Given the description of an element on the screen output the (x, y) to click on. 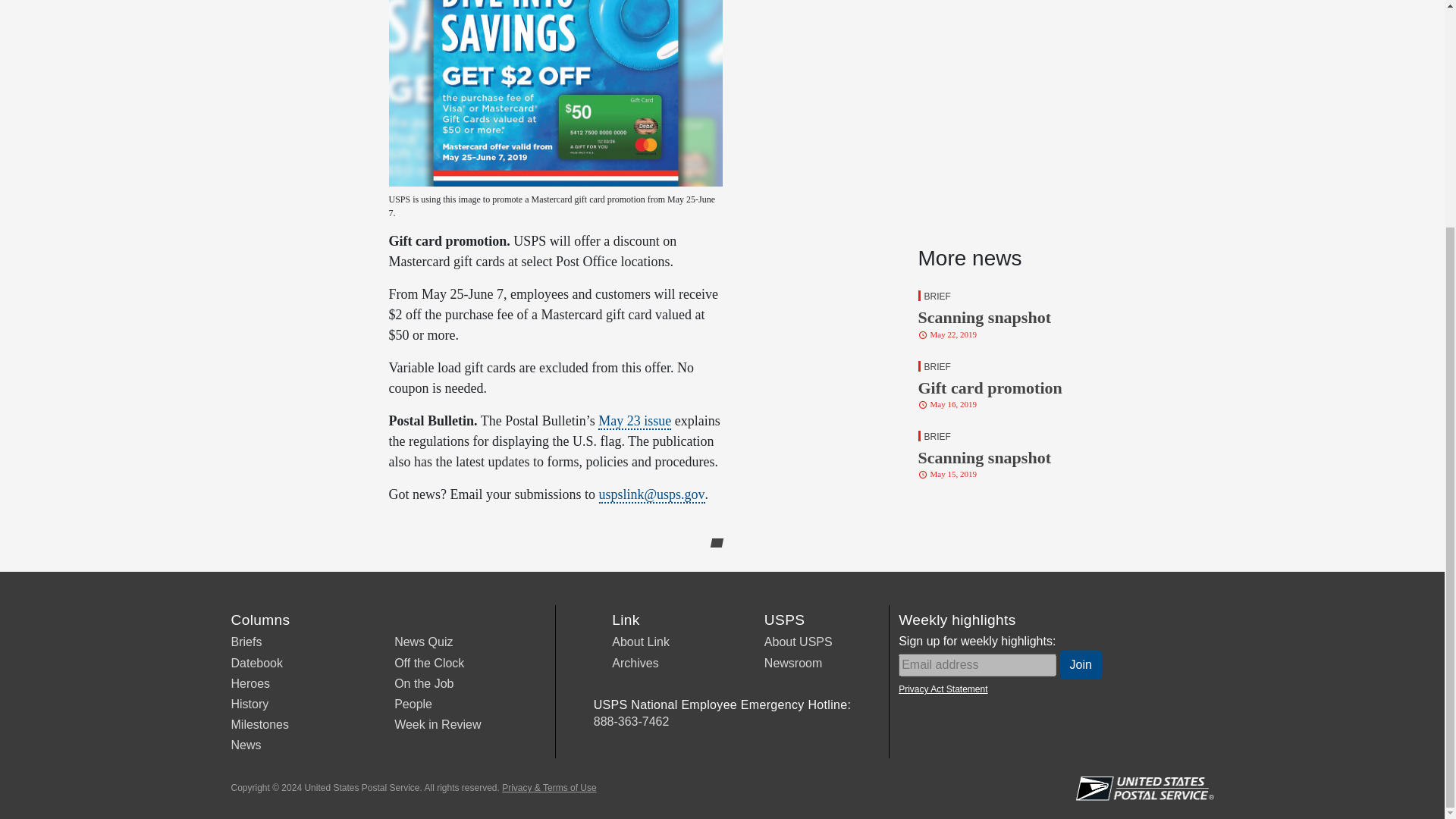
On the Job (423, 683)
May 23 issue (634, 421)
People (413, 703)
Off the Clock (429, 662)
News (245, 744)
Briefs (1027, 383)
Join (246, 641)
Heroes (1080, 664)
